Given the description of an element on the screen output the (x, y) to click on. 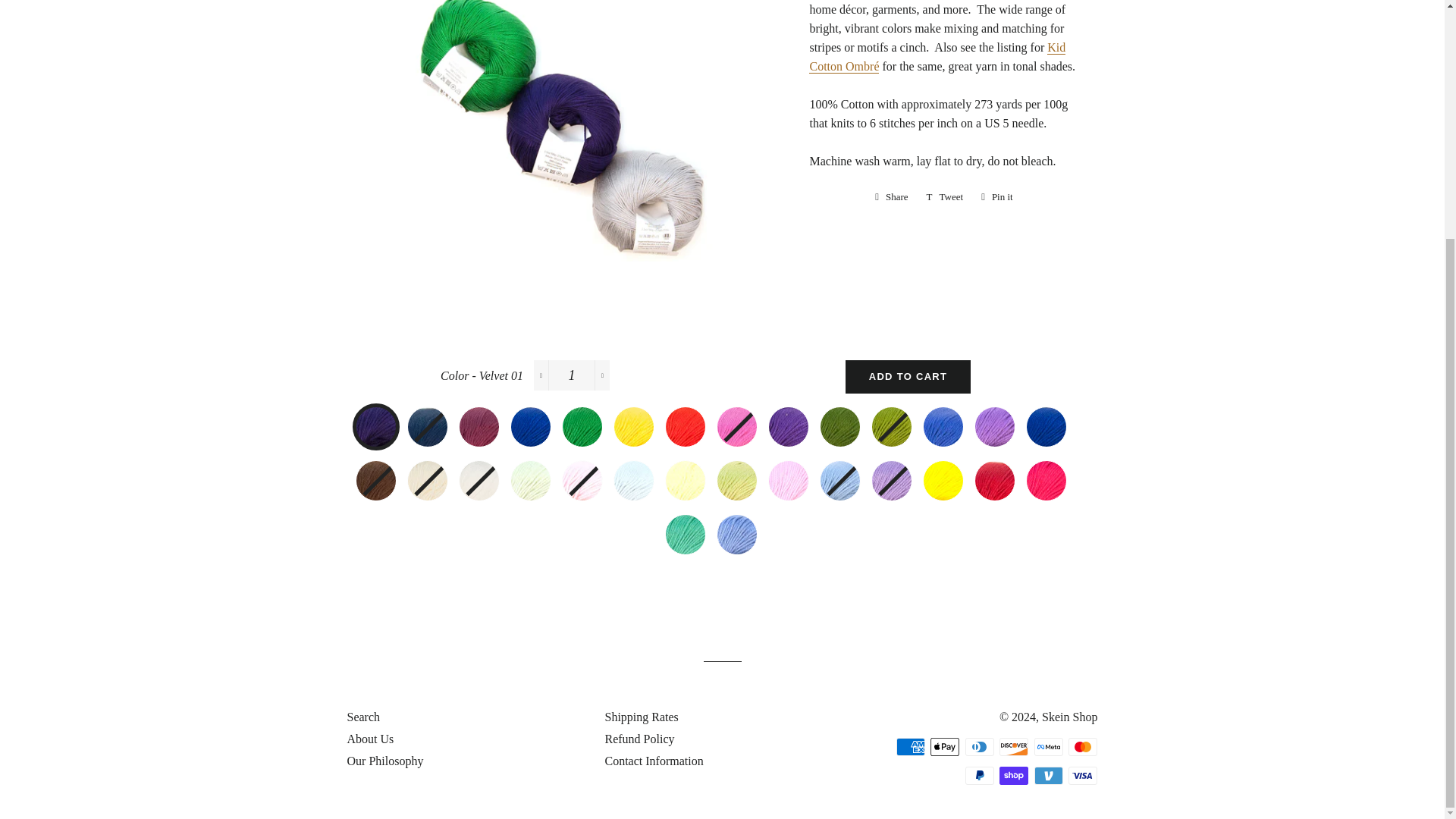
Share on Facebook (891, 196)
Mastercard (1082, 746)
Meta Pay (1047, 746)
Tweet on Twitter (944, 196)
Shop Pay (1012, 775)
